Given the description of an element on the screen output the (x, y) to click on. 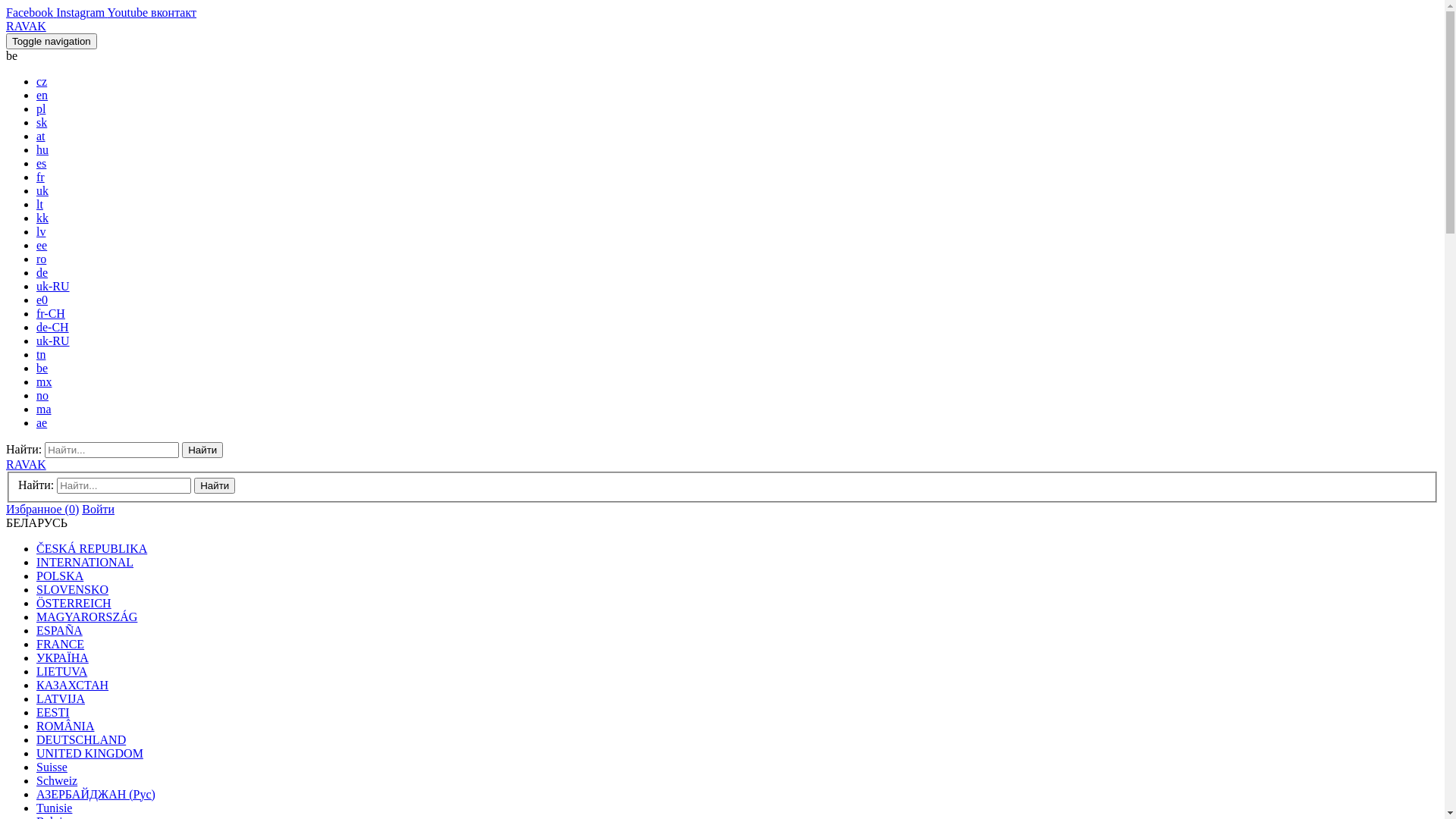
POLSKA Element type: text (59, 575)
Youtube Element type: text (129, 12)
be Element type: text (41, 367)
Toggle navigation Element type: text (51, 41)
Instagram Element type: text (81, 12)
FRANCE Element type: text (60, 643)
ae Element type: text (41, 422)
kk Element type: text (42, 217)
SLOVENSKO Element type: text (72, 589)
ee Element type: text (41, 244)
fr-CH Element type: text (50, 313)
uk-RU Element type: text (52, 285)
at Element type: text (40, 135)
Schweiz Element type: text (56, 780)
en Element type: text (41, 94)
DEUTSCHLAND Element type: text (80, 739)
UNITED KINGDOM Element type: text (89, 752)
sk Element type: text (41, 122)
hu Element type: text (42, 149)
EESTI Element type: text (52, 712)
LATVIJA Element type: text (60, 698)
e0 Element type: text (41, 299)
lt Element type: text (39, 203)
ma Element type: text (43, 408)
Tunisie Element type: text (54, 807)
lv Element type: text (40, 231)
pl Element type: text (40, 108)
fr Element type: text (40, 176)
INTERNATIONAL Element type: text (84, 561)
cz Element type: text (41, 81)
tn Element type: text (40, 354)
uk-RU Element type: text (52, 340)
Suisse Element type: text (51, 766)
RAVAK Element type: text (26, 25)
de Element type: text (41, 272)
mx Element type: text (43, 381)
uk Element type: text (42, 190)
de-CH Element type: text (52, 326)
no Element type: text (42, 395)
LIETUVA Element type: text (61, 671)
ro Element type: text (41, 258)
es Element type: text (41, 162)
RAVAK Element type: text (26, 464)
Facebook Element type: text (31, 12)
